Given the description of an element on the screen output the (x, y) to click on. 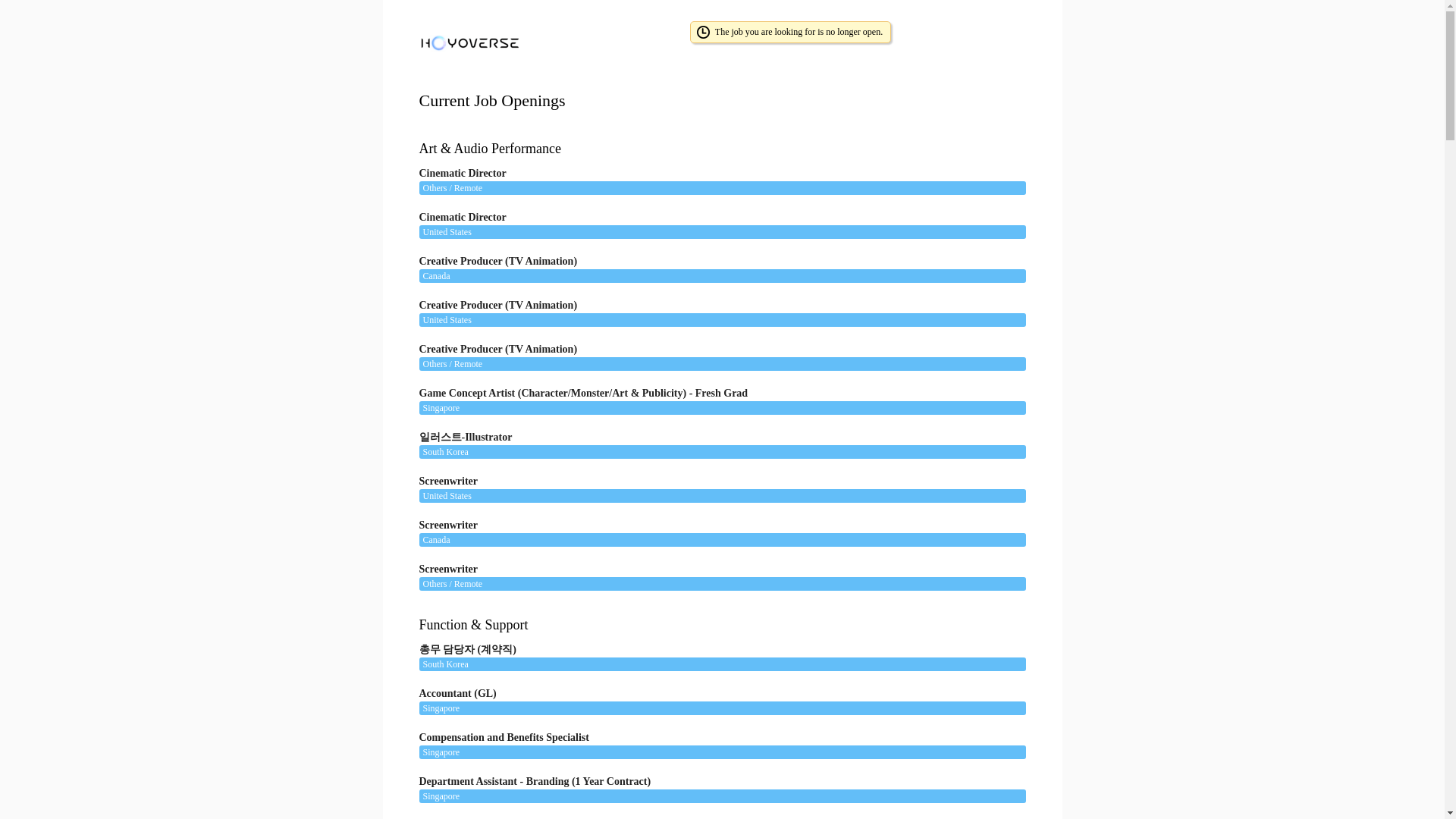
Screenwriter (714, 529)
Compensation and Benefits Specialist (714, 742)
Cinematic Director (714, 221)
Screenwriter (714, 485)
Screenwriter (714, 573)
Cinematic Director (714, 178)
